Given the description of an element on the screen output the (x, y) to click on. 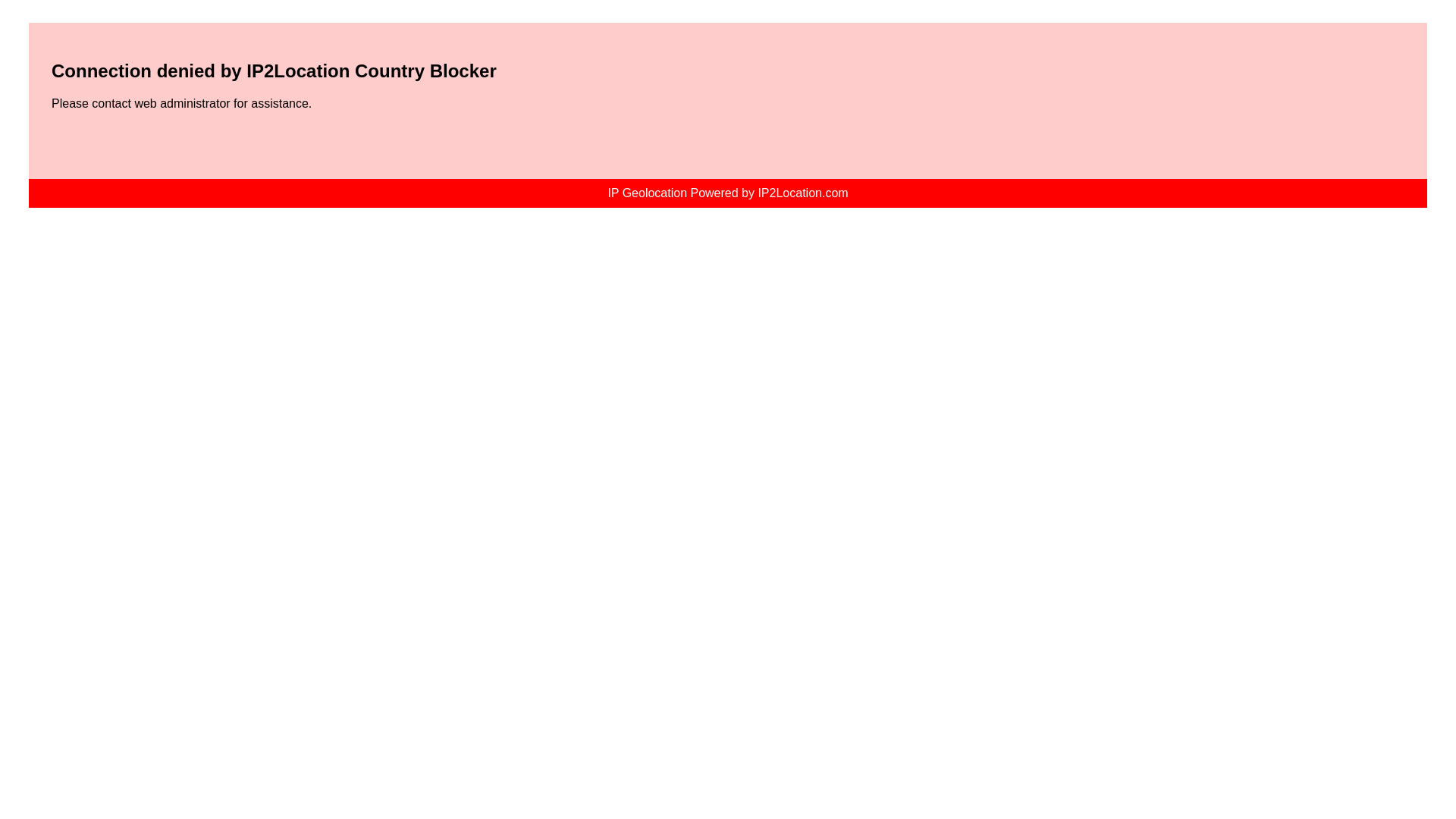
IP Geolocation Powered by IP2Location.com (727, 192)
